Given the description of an element on the screen output the (x, y) to click on. 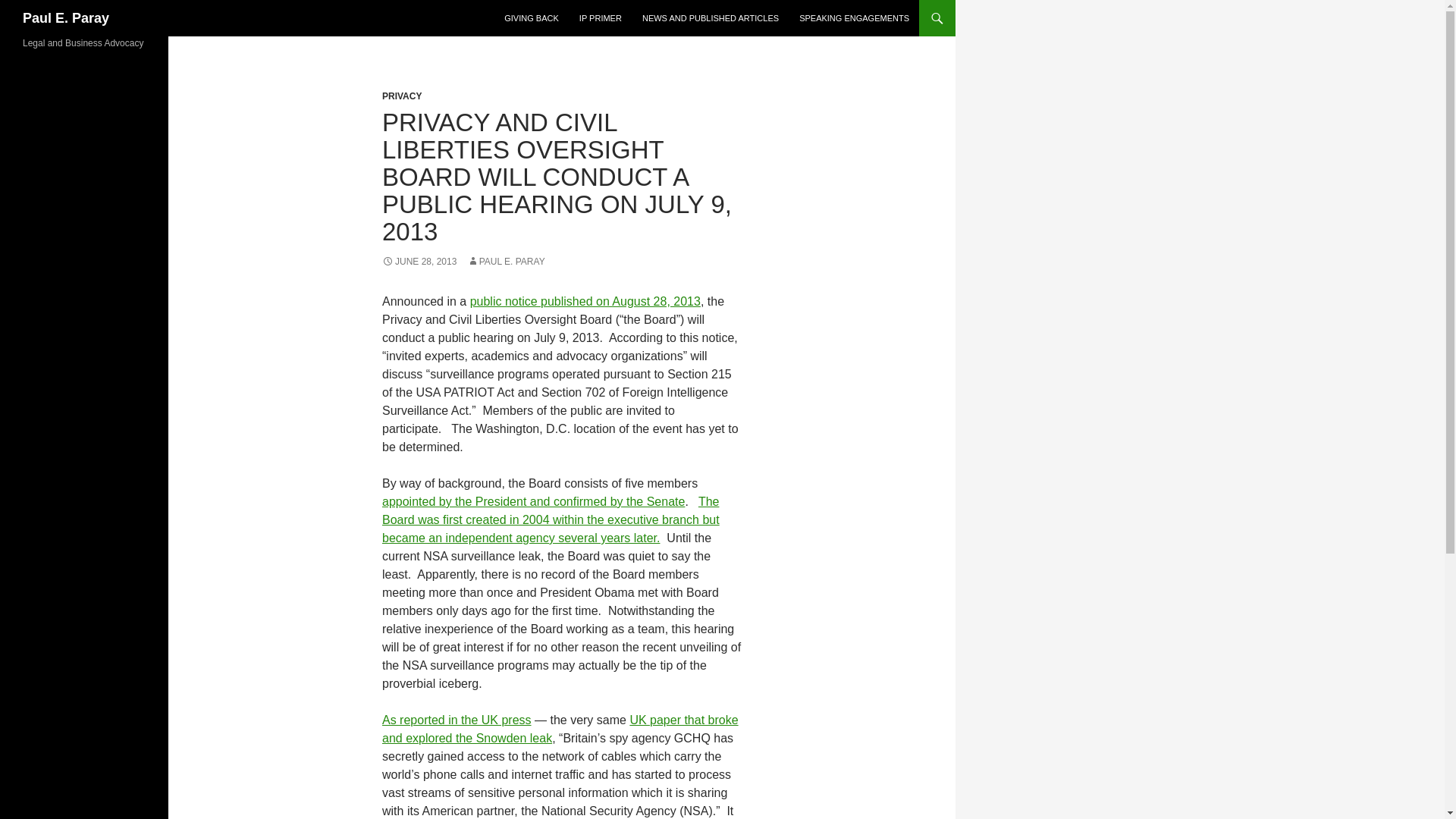
UK paper that broke and explored the Snowden leak (559, 728)
JUNE 28, 2013 (419, 261)
appointed by the President and confirmed by the Senate (532, 501)
IP PRIMER (600, 18)
PRIVACY (401, 95)
The (708, 501)
PAUL E. PARAY (505, 261)
public notice published on August 28, 2013 (585, 300)
As reported in the UK press (456, 719)
